Given the description of an element on the screen output the (x, y) to click on. 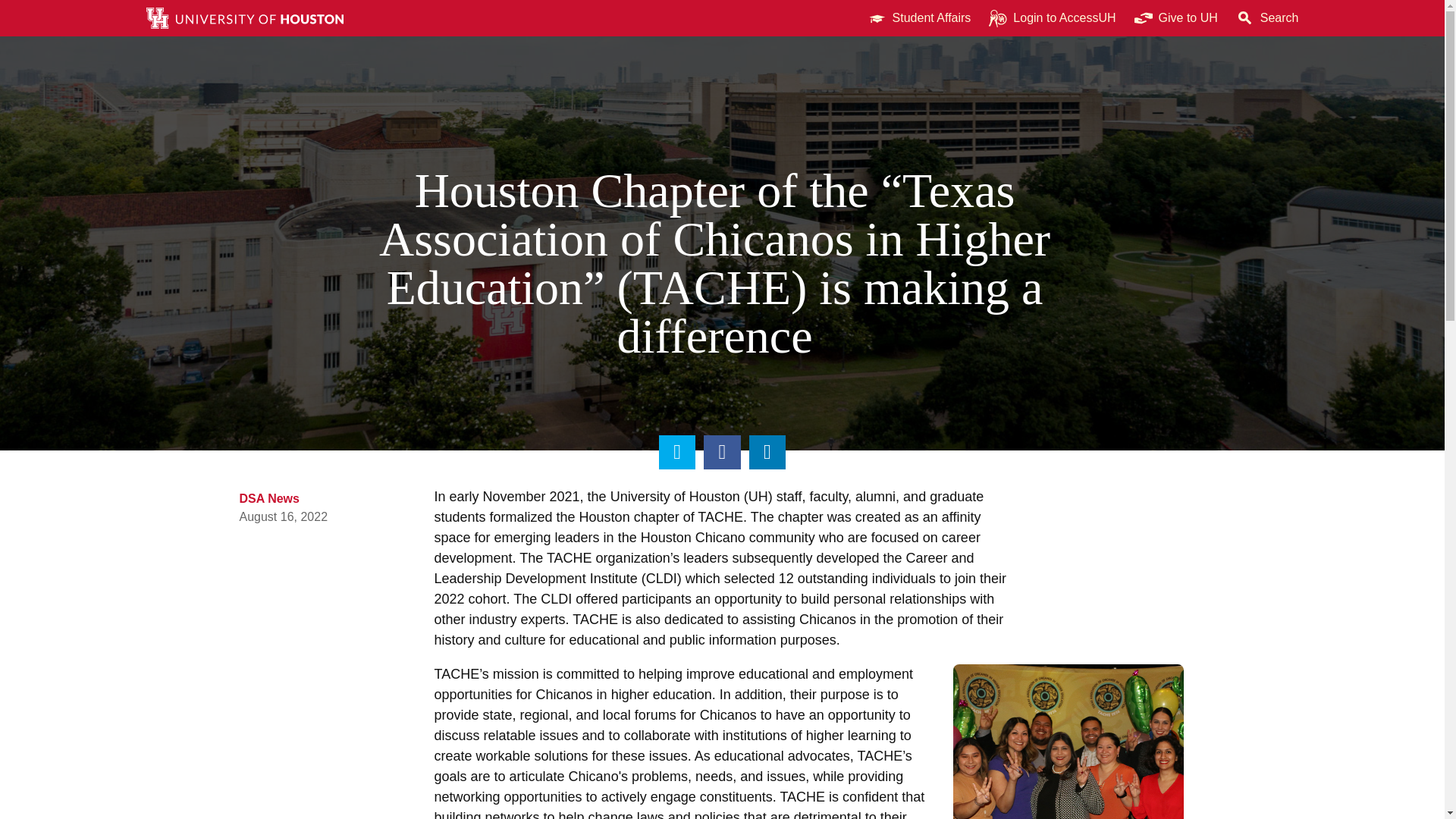
Give to UH (1176, 18)
Search (1267, 18)
University of Houston (758, 482)
Student Affairs (919, 18)
Login to AccessUH (1051, 18)
DSA News (269, 484)
University of Houston (1208, 17)
